Given the description of an element on the screen output the (x, y) to click on. 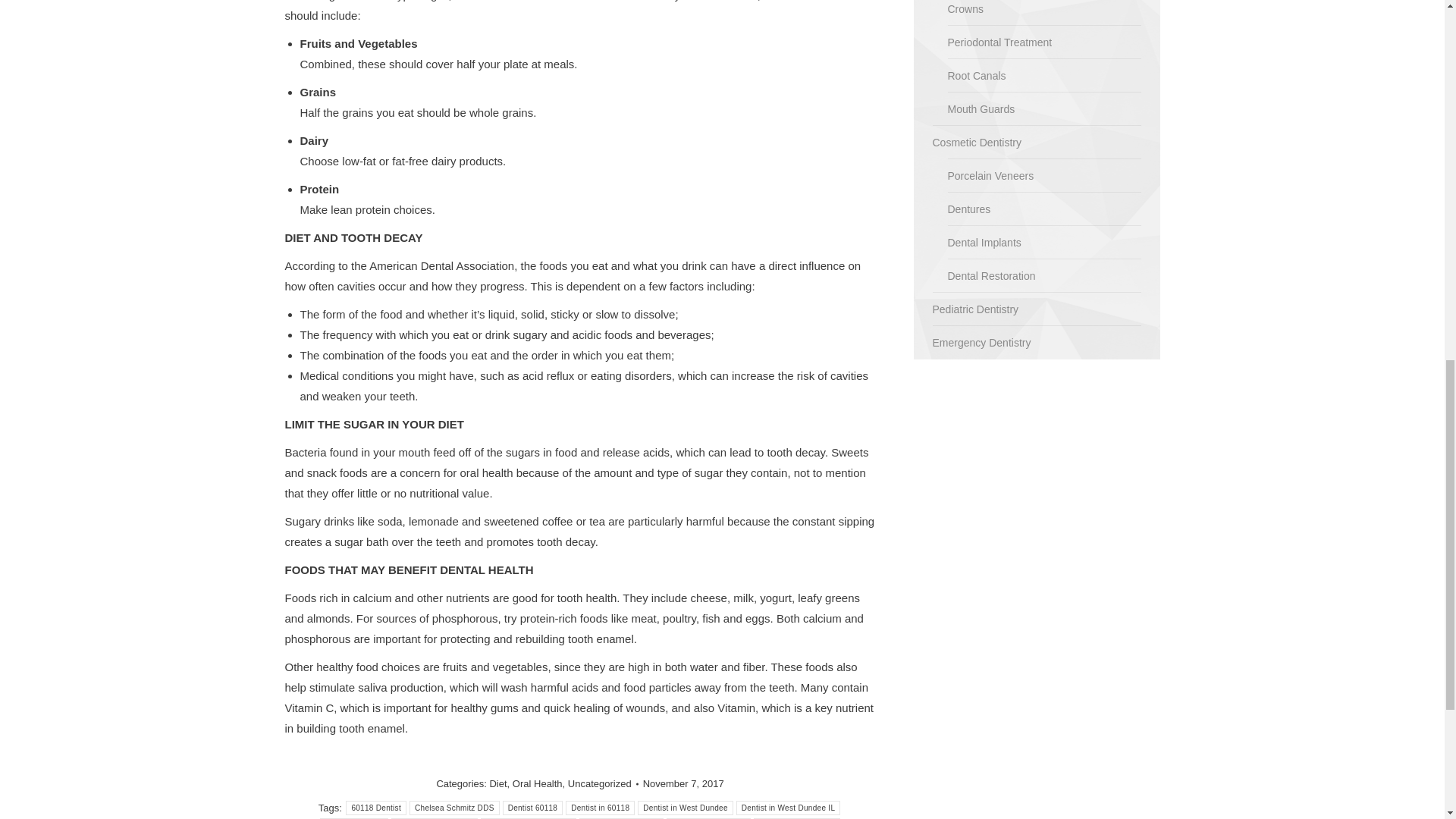
3:38 am (683, 783)
